Given the description of an element on the screen output the (x, y) to click on. 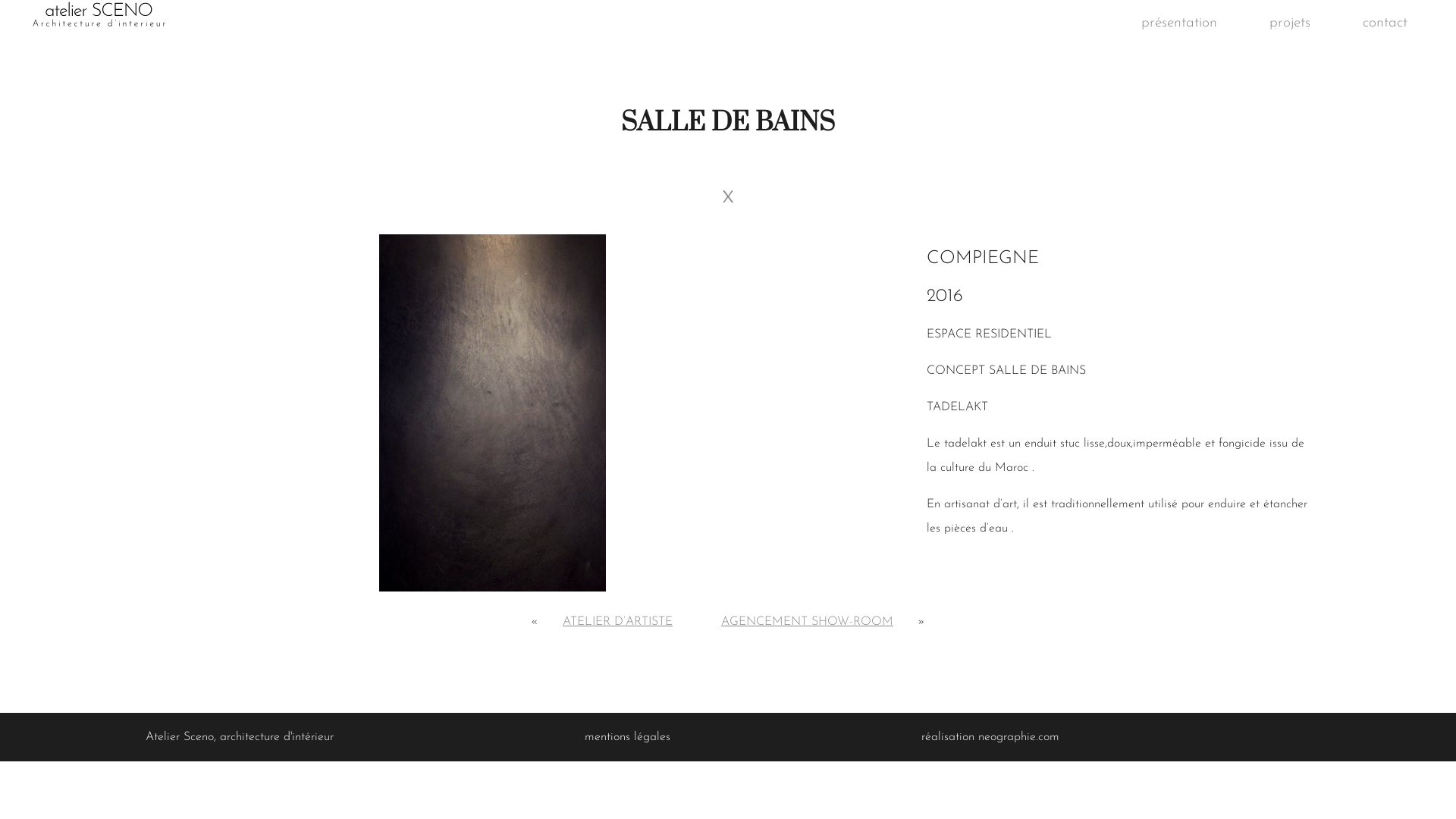
contact Element type: text (1384, 22)
neographie.com Element type: text (1018, 737)
x Element type: text (727, 194)
projets Element type: text (1289, 22)
AGENCEMENT SHOW-ROOM Element type: text (807, 621)
